Given the description of an element on the screen output the (x, y) to click on. 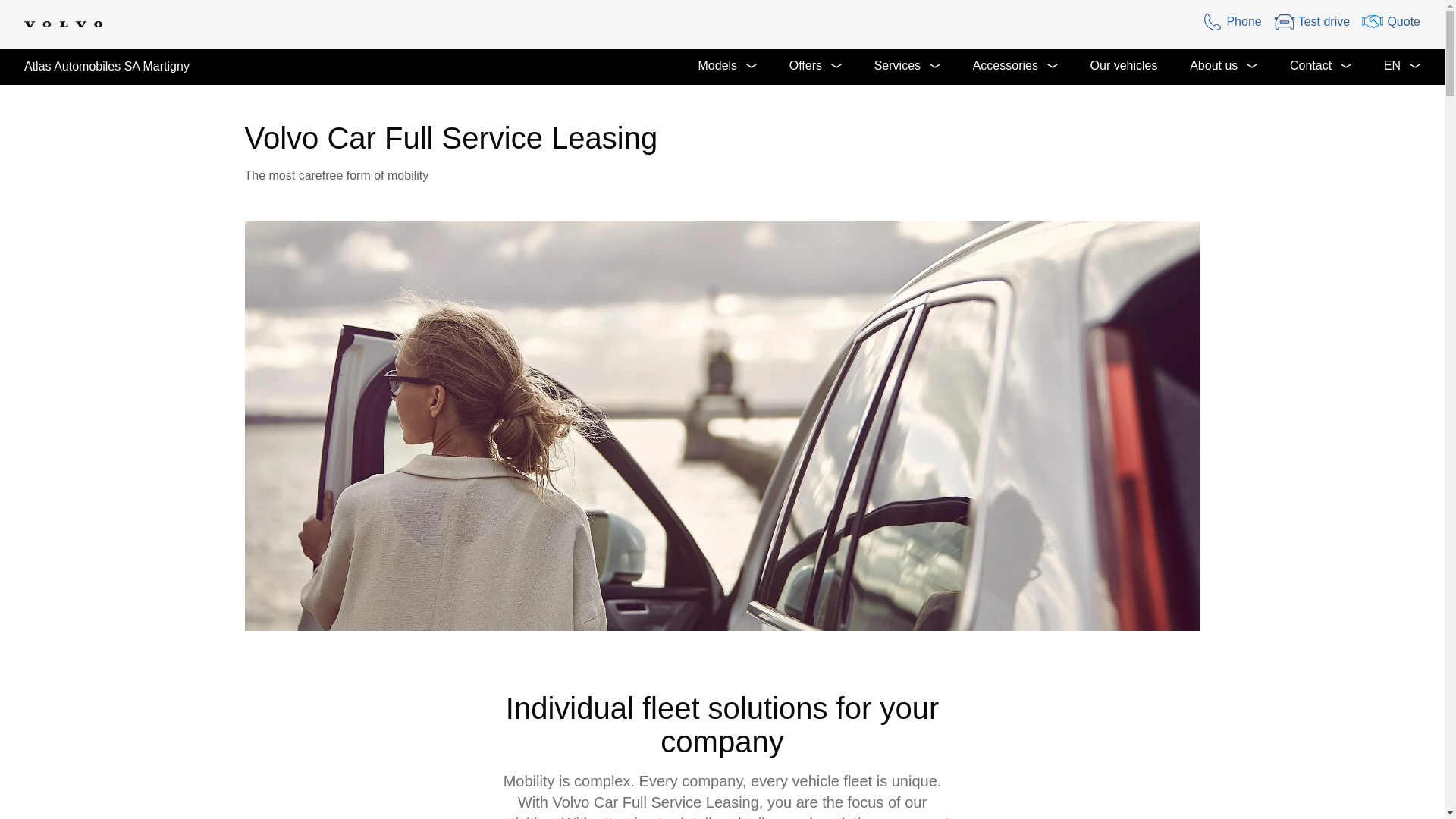
Test drive (1311, 20)
Phone (1231, 20)
Models (727, 66)
Atlas Automobiles SA Martigny (94, 66)
Quote (1391, 20)
Models (727, 66)
Offers (815, 66)
Services (906, 66)
Volvo Logo (62, 24)
